Given the description of an element on the screen output the (x, y) to click on. 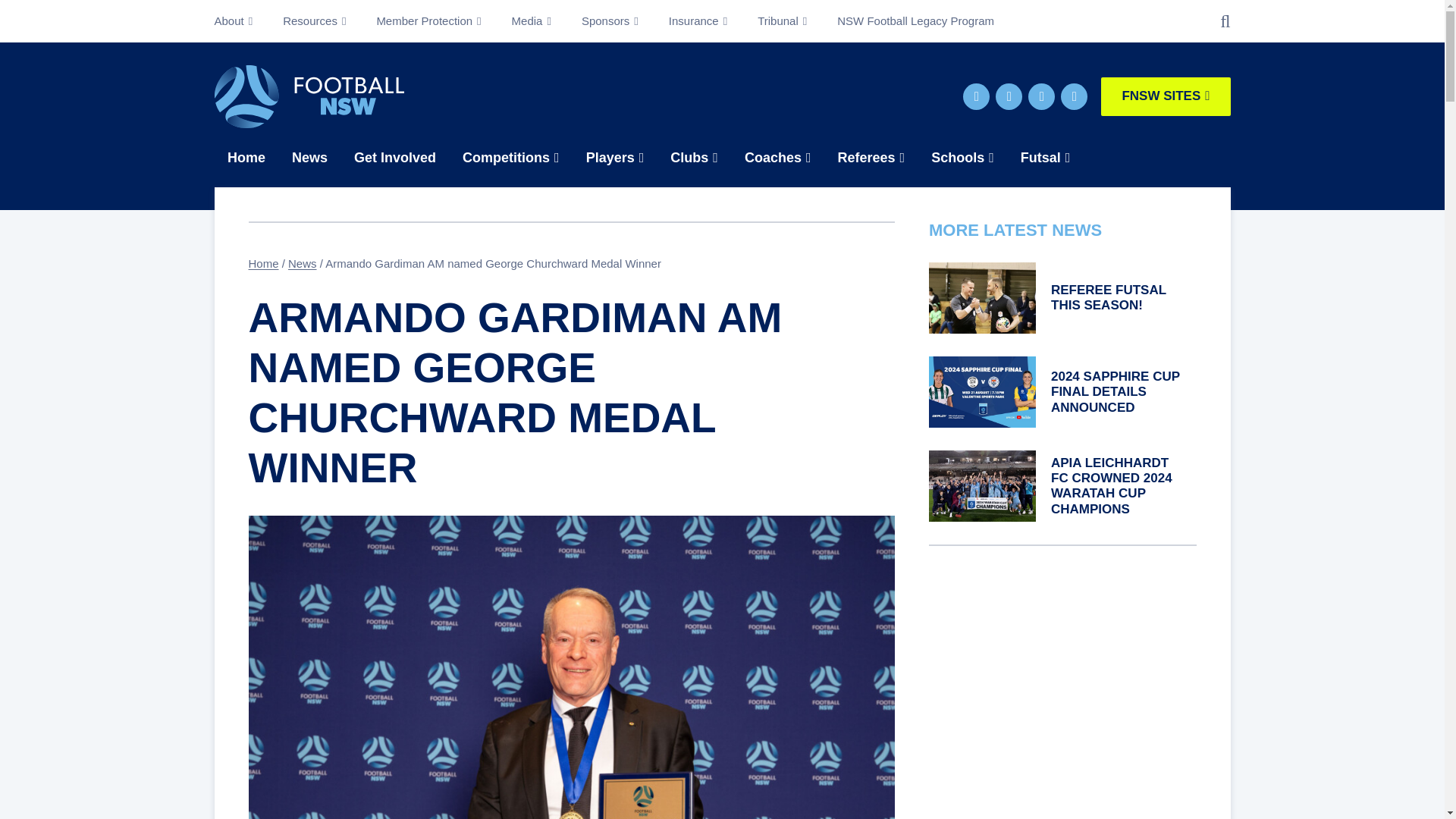
APIA Leichhardt FC Crowned 2024 Waratah Cup Champions (1111, 485)
About (240, 21)
Referee futsal this season! (981, 297)
APIA Leichhardt FC Crowned 2024 Waratah Cup Champions (981, 485)
2024 Sapphire Cup Final details announced (1115, 391)
Resources (314, 21)
Sponsors (609, 21)
2024 Sapphire Cup Final details announced (981, 391)
Referee futsal this season! (1108, 297)
